Given the description of an element on the screen output the (x, y) to click on. 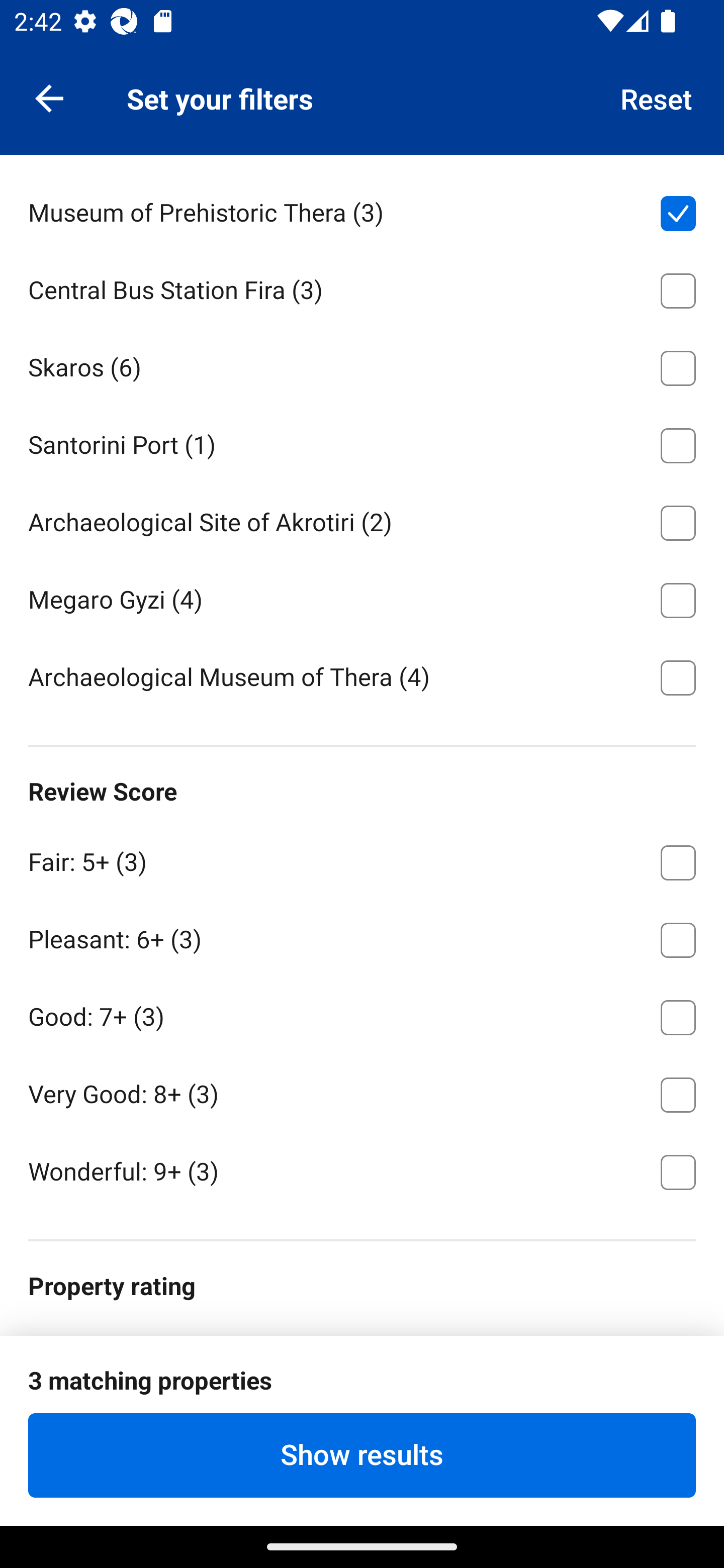
Navigate up (49, 97)
Reset (656, 97)
Museum of Prehistoric Thera ⁦(3) (361, 209)
Central Bus Station Fira ⁦(3) (361, 287)
Skaros ⁦(6) (361, 364)
Santorini Port ⁦(1) (361, 441)
Archaeological Site of Akrotiri ⁦(2) (361, 519)
Megaro Gyzi ⁦(4) (361, 596)
Archaeological Museum of Thera ⁦(4) (361, 675)
Fair: 5+ ⁦(3) (361, 859)
Pleasant: 6+ ⁦(3) (361, 936)
Good: 7+ ⁦(3) (361, 1013)
Very Good: 8+ ⁦(3) (361, 1091)
Wonderful: 9+ ⁦(3) (361, 1170)
Show results (361, 1454)
